Given the description of an element on the screen output the (x, y) to click on. 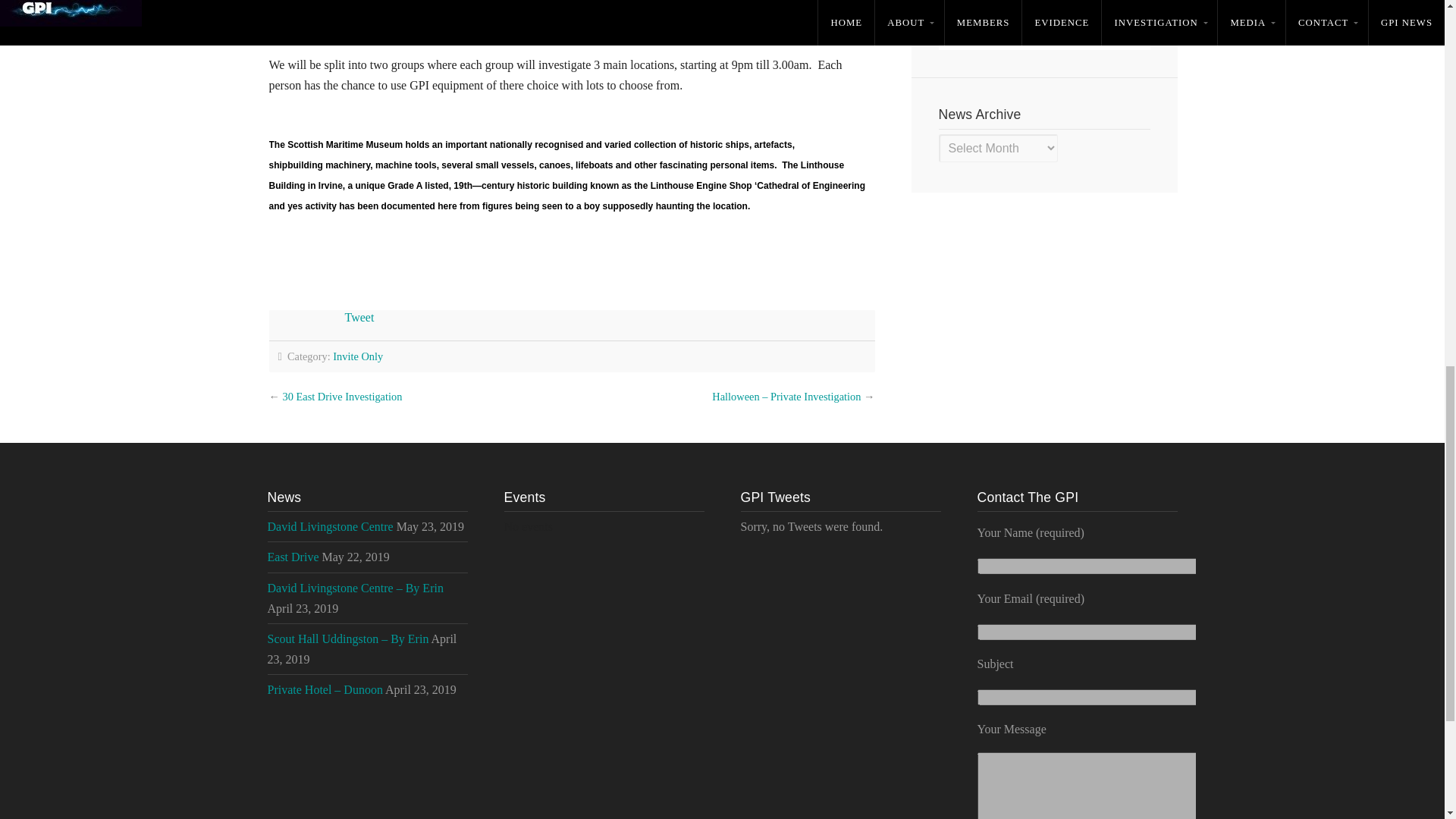
30 East Drive Investigation (341, 396)
Tweet (358, 317)
Invite Only (357, 356)
View all posts in Invite Only (357, 356)
